Given the description of an element on the screen output the (x, y) to click on. 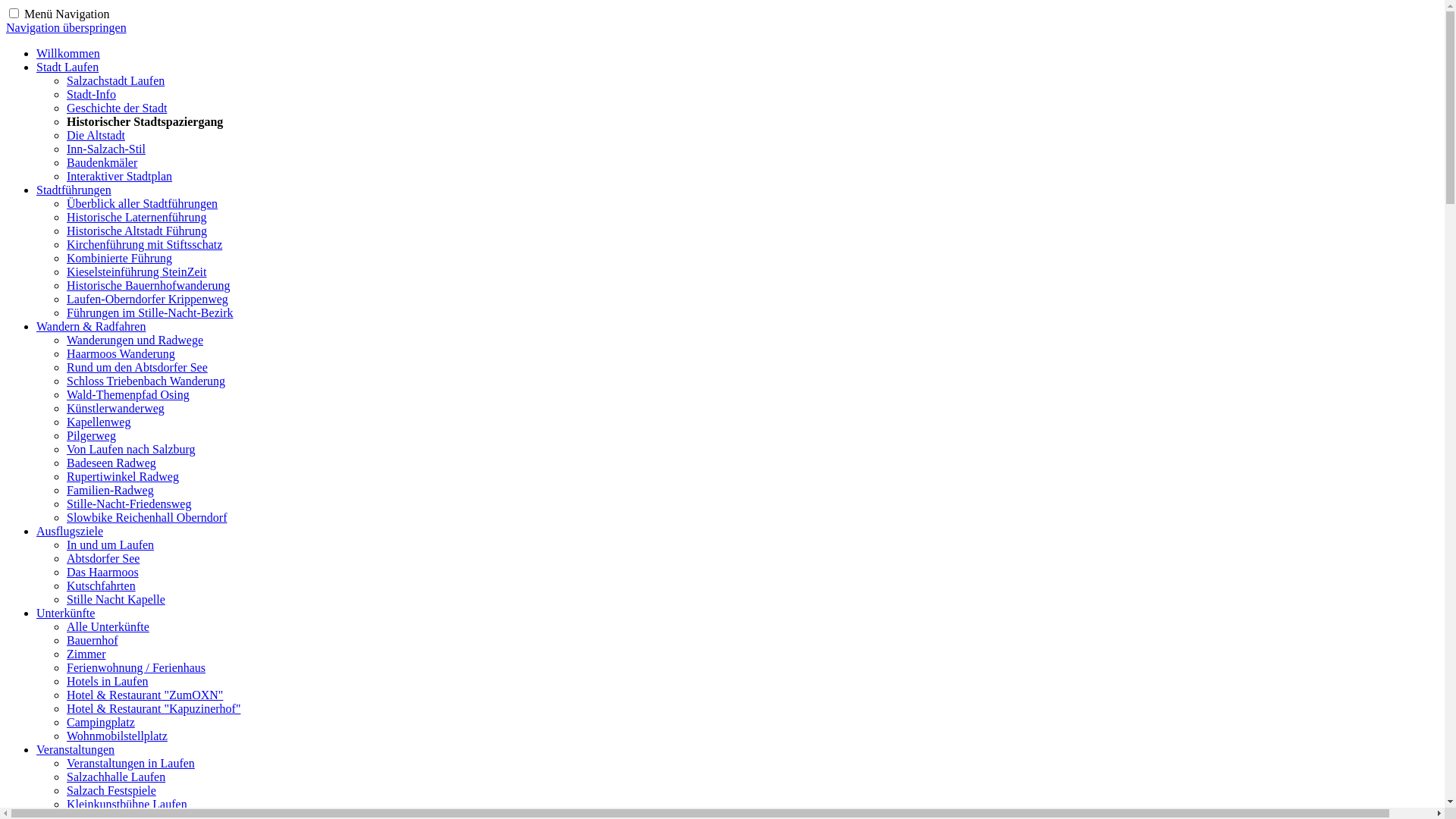
Salzachstadt Laufen Element type: text (115, 80)
Veranstaltungen Element type: text (75, 749)
In und um Laufen Element type: text (109, 544)
Ferienwohnung / Ferienhaus Element type: text (135, 667)
Die Altstadt Element type: text (95, 134)
Das Haarmoos Element type: text (102, 571)
Hotels in Laufen Element type: text (107, 680)
Stille Nacht Kapelle Element type: text (115, 599)
Historische Bauernhofwanderung Element type: text (148, 285)
Interaktiver Stadtplan Element type: text (119, 175)
Salzach Festspiele Element type: text (111, 790)
Geschichte der Stadt Element type: text (116, 107)
Campingplatz Element type: text (100, 721)
Stille-Nacht-Friedensweg Element type: text (128, 503)
Hotel & Restaurant "ZumOXN" Element type: text (144, 694)
Inn-Salzach-Stil Element type: text (105, 148)
Stadt Laufen Element type: text (67, 66)
Wald-Themenpfad Osing Element type: text (127, 394)
Wanderungen und Radwege Element type: text (134, 339)
Bauernhof Element type: text (92, 639)
Laufen-Oberndorfer Krippenweg Element type: text (147, 298)
Willkommen Element type: text (68, 53)
Stadt-Info Element type: text (91, 93)
Wandern & Radfahren Element type: text (90, 326)
Veranstaltungen in Laufen Element type: text (130, 762)
Rupertiwinkel Radweg Element type: text (122, 476)
Familien-Radweg Element type: text (109, 489)
Kutschfahrten Element type: text (100, 585)
Salzachhalle Laufen Element type: text (115, 776)
Haarmoos Wanderung Element type: text (120, 353)
Rund um den Abtsdorfer See Element type: text (136, 366)
Hotel & Restaurant "Kapuzinerhof" Element type: text (153, 708)
Slowbike Reichenhall Oberndorf Element type: text (146, 517)
Wohnmobilstellplatz Element type: text (116, 735)
Badeseen Radweg Element type: text (111, 462)
Zimmer Element type: text (86, 653)
Pilgerweg Element type: text (91, 435)
Kapellenweg Element type: text (98, 421)
Schloss Triebenbach Wanderung Element type: text (145, 380)
Abtsdorfer See Element type: text (102, 558)
Von Laufen nach Salzburg Element type: text (130, 448)
Ausflugsziele Element type: text (69, 530)
